Given the description of an element on the screen output the (x, y) to click on. 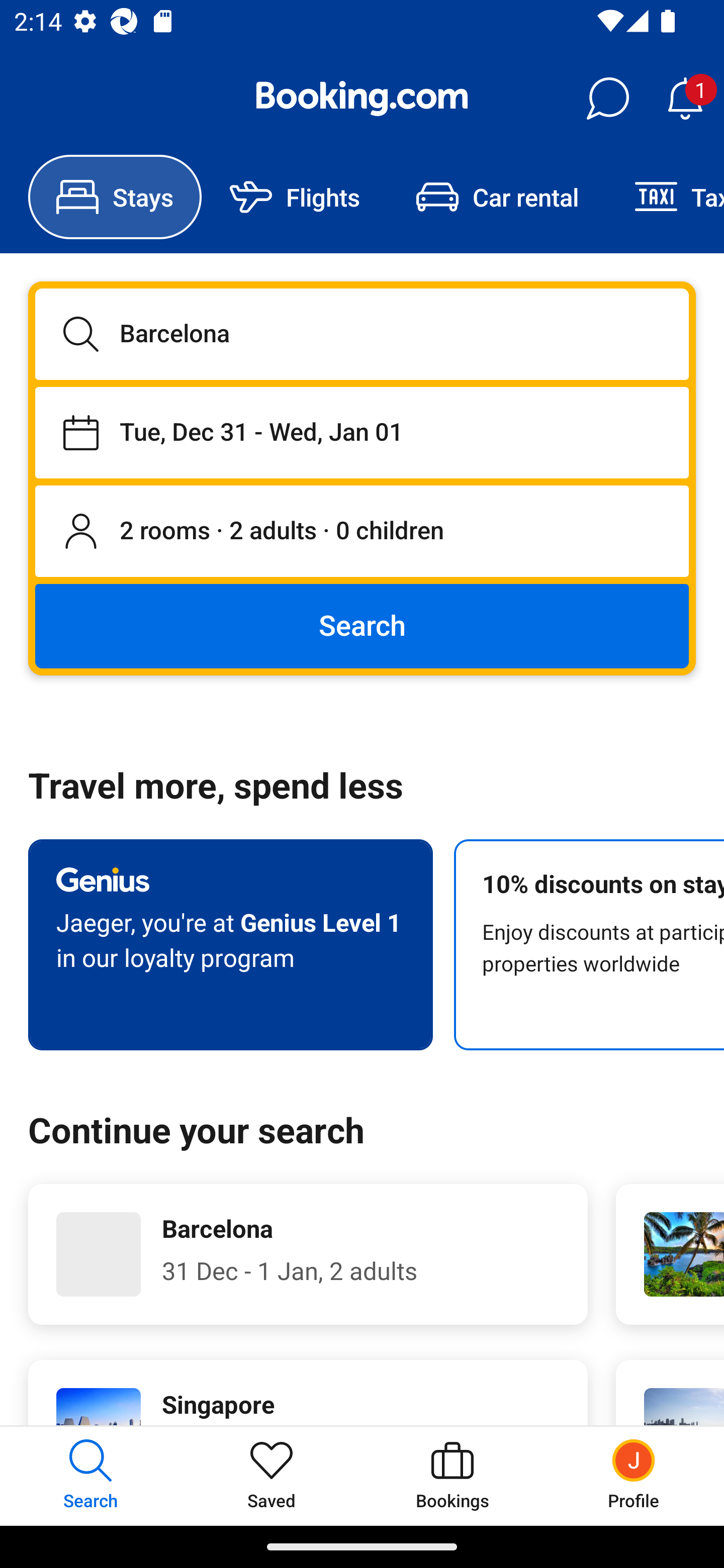
Messages (607, 98)
Notifications (685, 98)
Stays (114, 197)
Flights (294, 197)
Car rental (497, 197)
Taxi (665, 197)
Barcelona (361, 333)
Staying from Tue, Dec 31 until Wed, Jan 01 (361, 432)
2 rooms, 2 adults, 0 children (361, 531)
Search (361, 625)
Barcelona 31 Dec - 1 Jan, 2 adults (307, 1253)
Saved (271, 1475)
Bookings (452, 1475)
Profile (633, 1475)
